Given the description of an element on the screen output the (x, y) to click on. 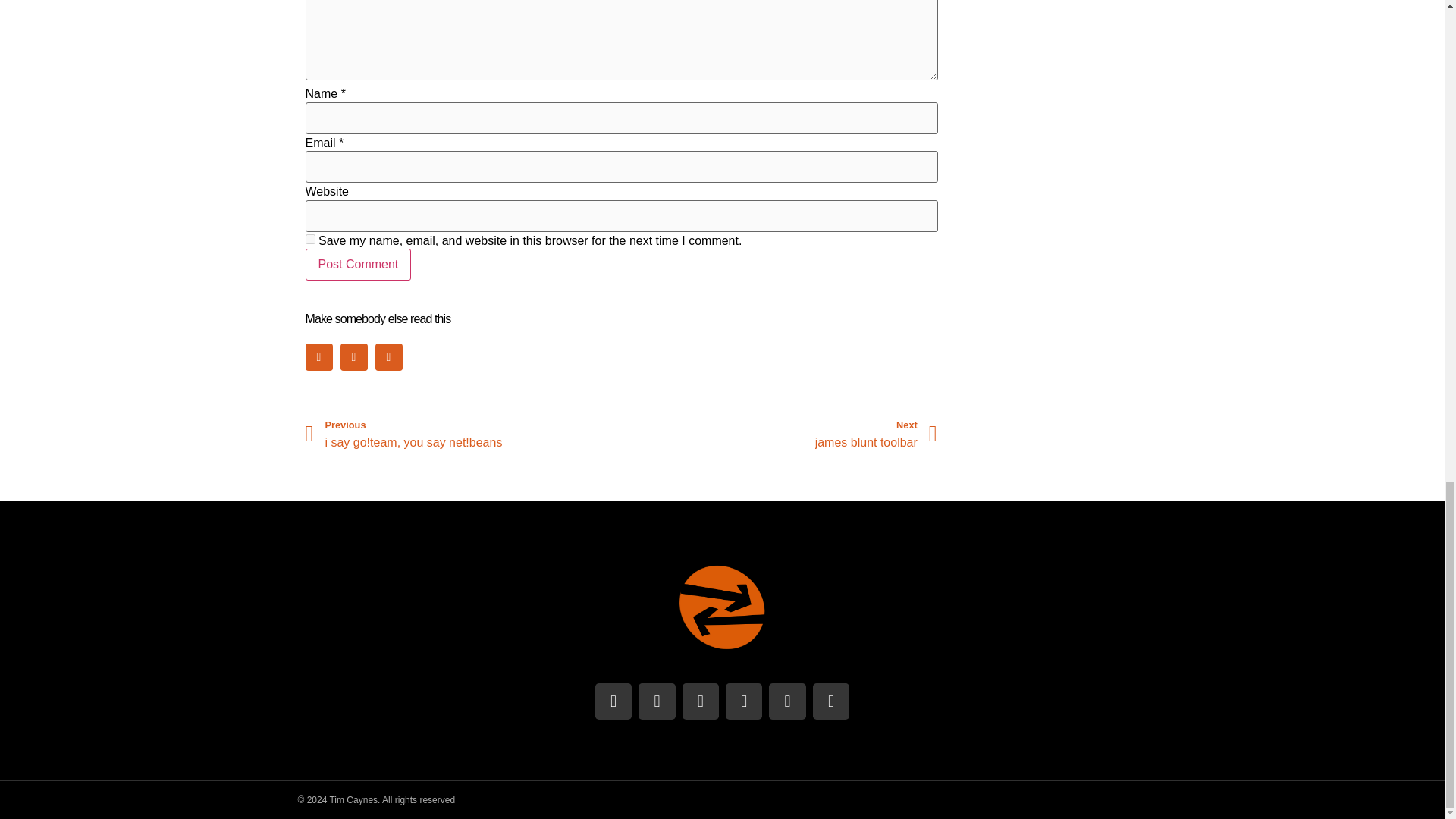
Post Comment (357, 264)
yes (309, 239)
Post Comment (462, 433)
